Given the description of an element on the screen output the (x, y) to click on. 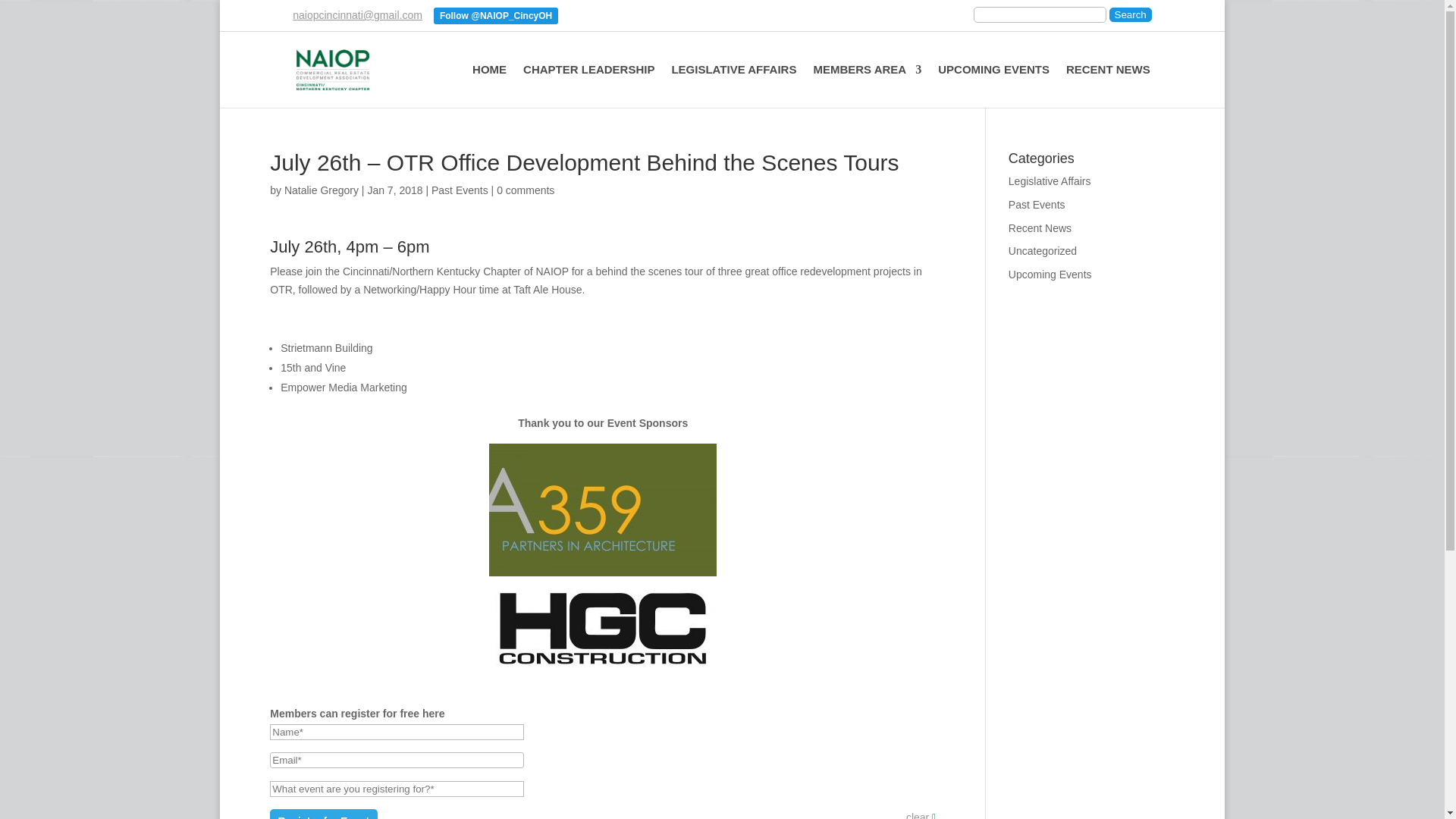
Search (1130, 14)
Uncategorized (1043, 250)
Natalie Gregory (320, 190)
clear (920, 814)
Legislative Affairs (1049, 181)
Recent News (1040, 227)
RECENT NEWS (1107, 81)
MEMBERS AREA (866, 81)
Register for Event (323, 814)
CHAPTER LEADERSHIP (587, 81)
